Given the description of an element on the screen output the (x, y) to click on. 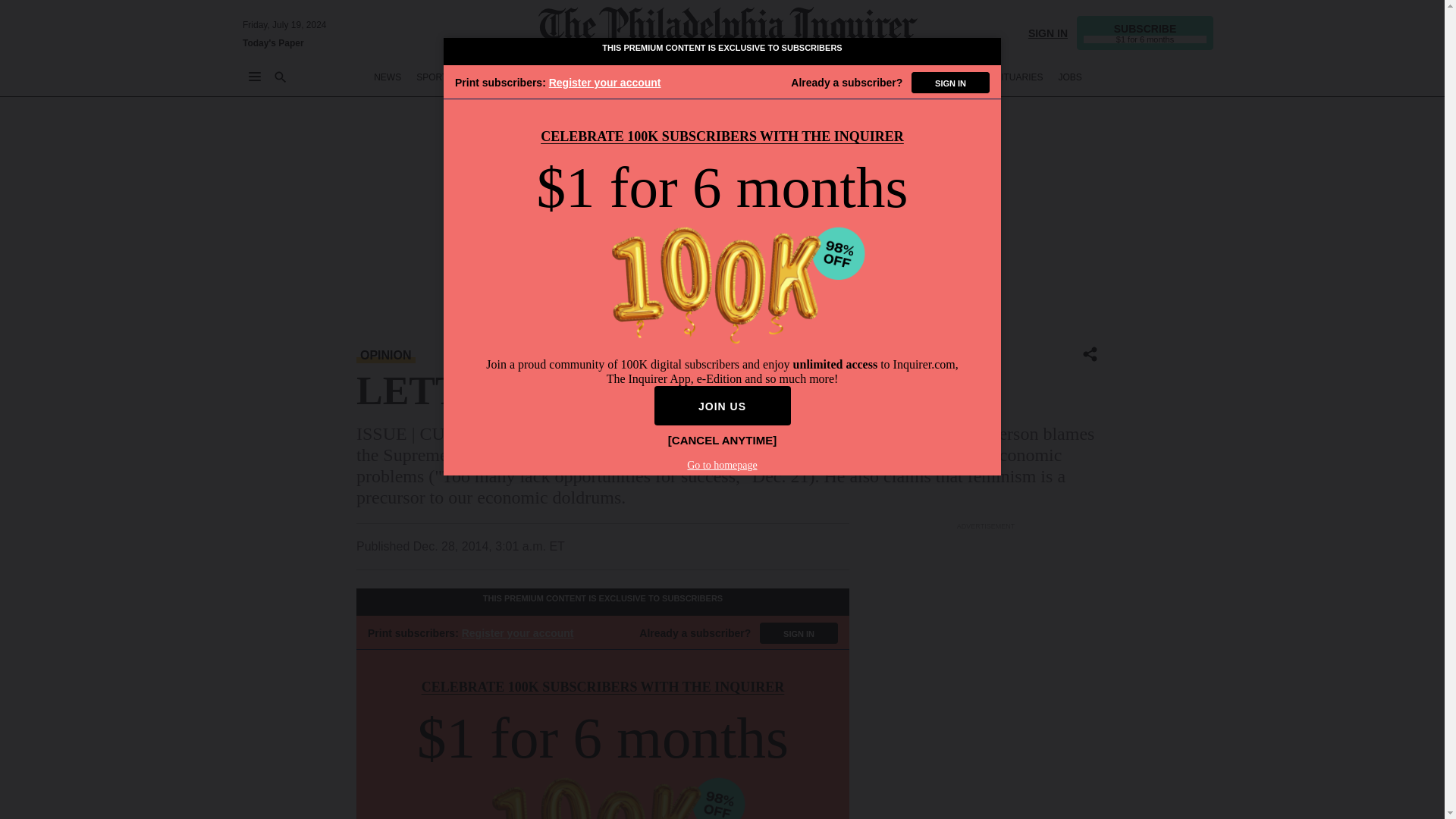
ENTERTAINMENT (732, 77)
Share Icon (1090, 354)
OBITUARIES (1015, 77)
SPORTS (434, 77)
LIFE (795, 77)
NEWS (387, 77)
SUBSCRIBE (1144, 32)
Today's Paper (273, 42)
BETTING (488, 77)
SIGN IN (1047, 32)
OPINION (604, 77)
OPINION (385, 354)
Share Icon (1090, 353)
FOOD (834, 77)
BUSINESS (545, 77)
